Given the description of an element on the screen output the (x, y) to click on. 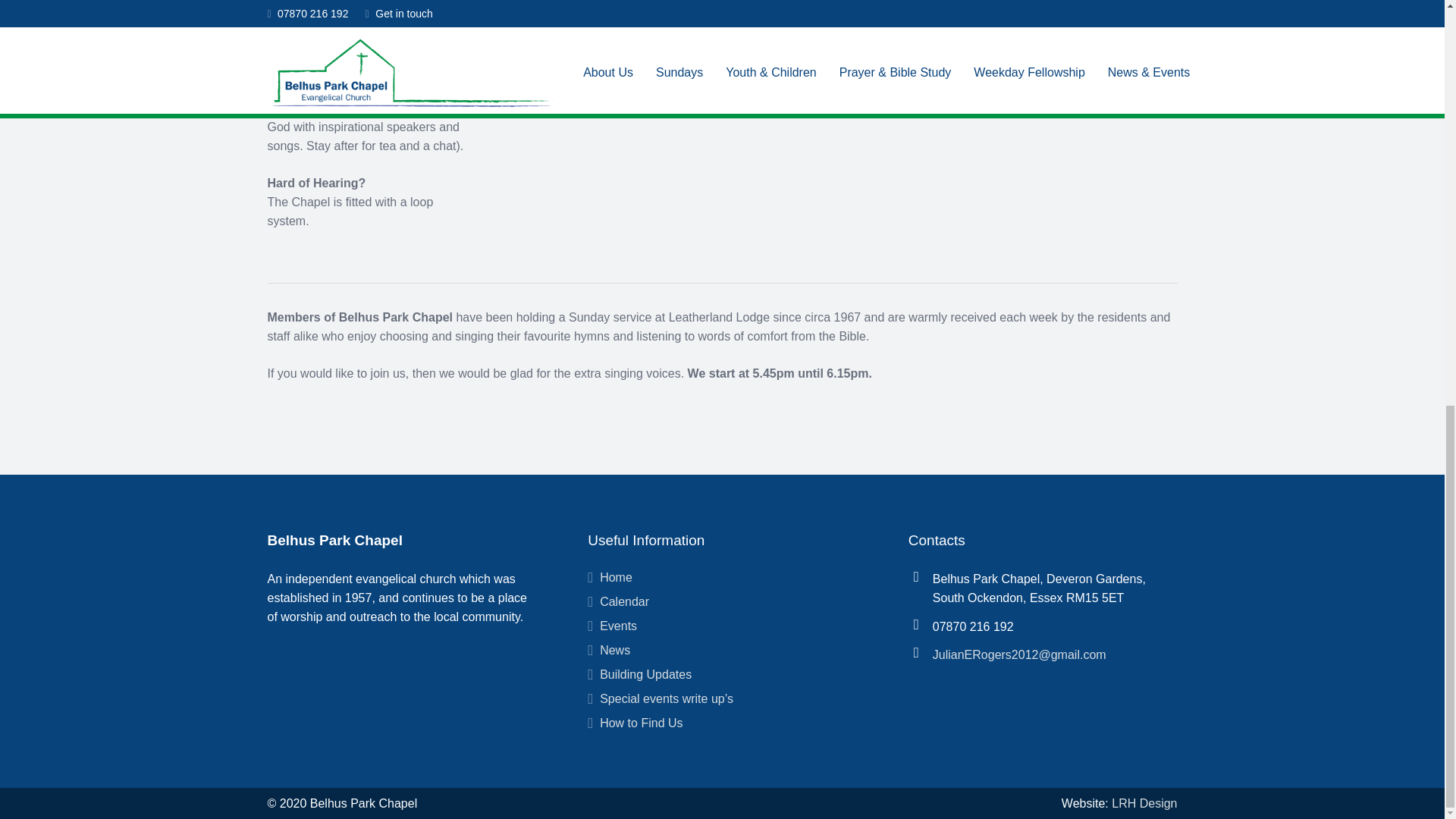
LRH Design (1144, 802)
Home (615, 576)
Building Updates (645, 674)
Calendar (624, 601)
How to Find Us (640, 722)
Back to top (1413, 46)
Events (618, 625)
News (614, 649)
